Given the description of an element on the screen output the (x, y) to click on. 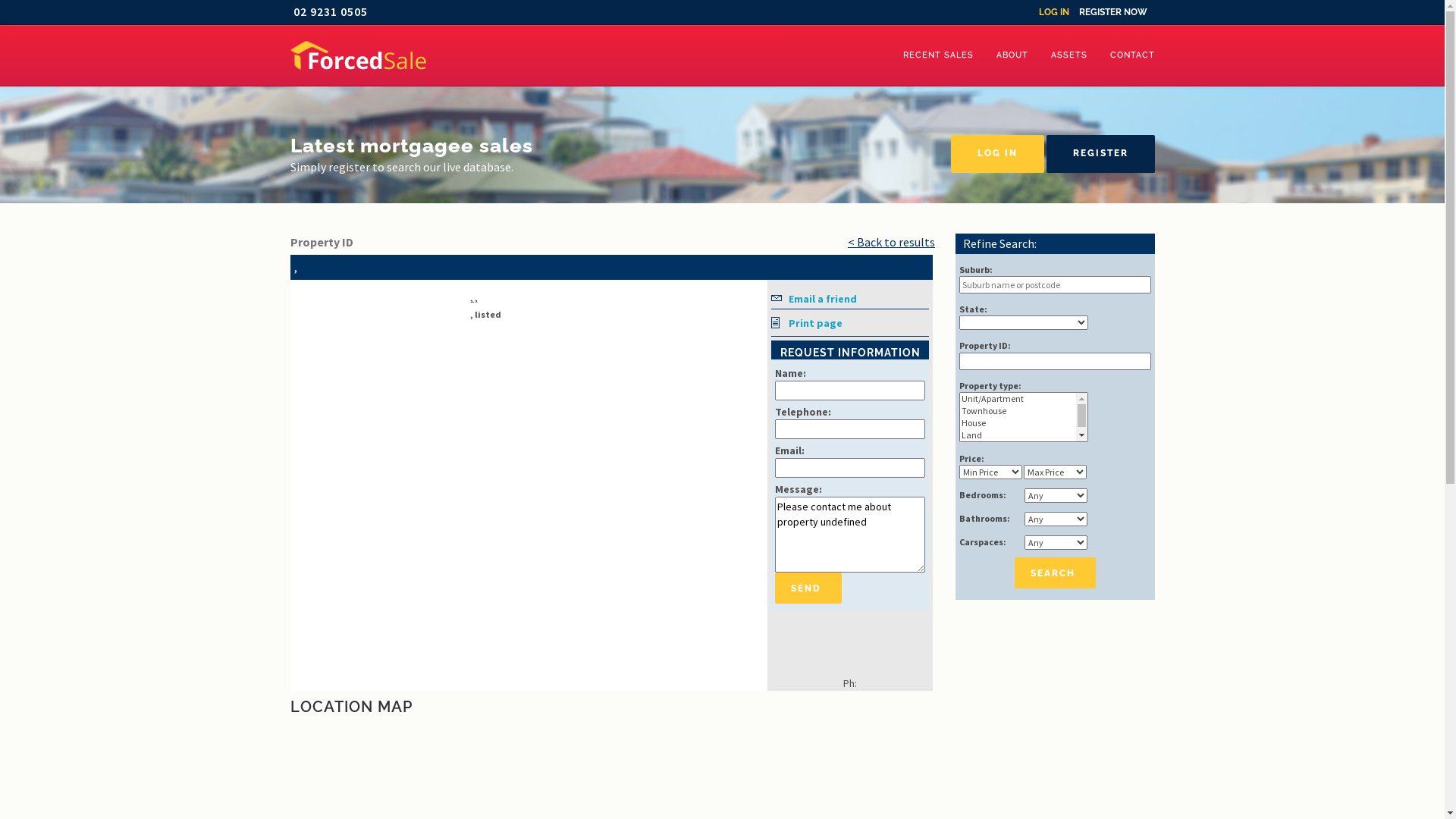
LOG IN Element type: text (997, 153)
SEARCH Element type: text (1054, 572)
Print page Element type: text (849, 324)
ABOUT Element type: text (1011, 55)
LOG IN Element type: text (1053, 11)
CONTACT Element type: text (1131, 55)
RECENT SALES Element type: text (938, 55)
Email a friend Element type: text (849, 300)
ASSETS Element type: text (1068, 55)
REGISTER NOW Element type: text (1112, 11)
< Back to results Element type: text (891, 241)
REGISTER Element type: text (1100, 153)
